Given the description of an element on the screen output the (x, y) to click on. 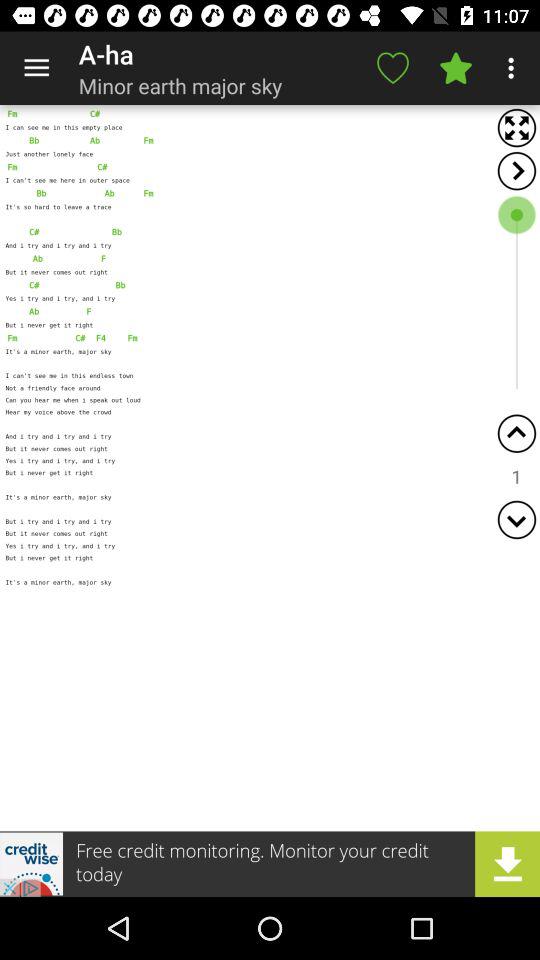
expand full screen icon (516, 127)
